Given the description of an element on the screen output the (x, y) to click on. 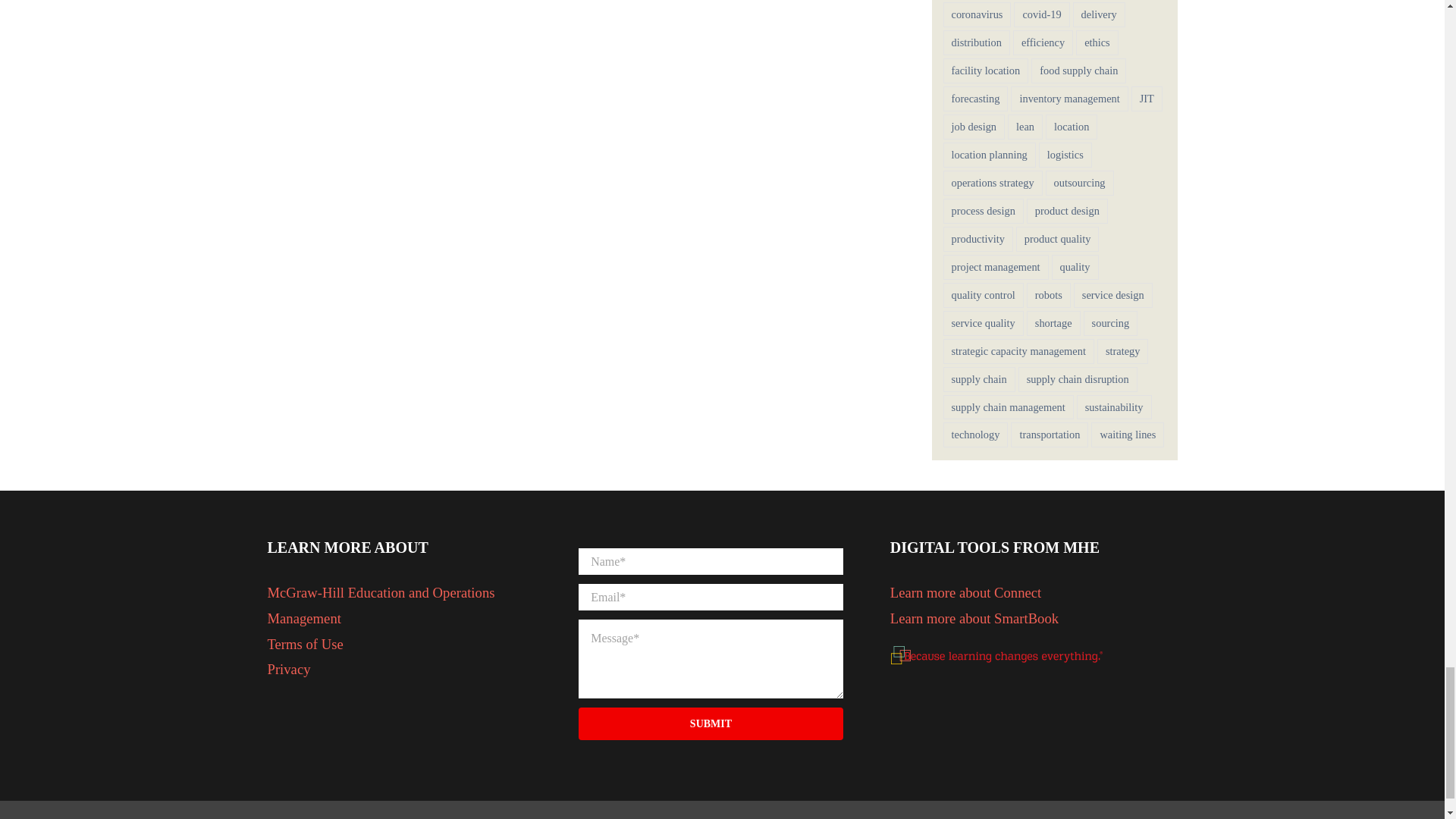
SUBMIT (710, 644)
